Given the description of an element on the screen output the (x, y) to click on. 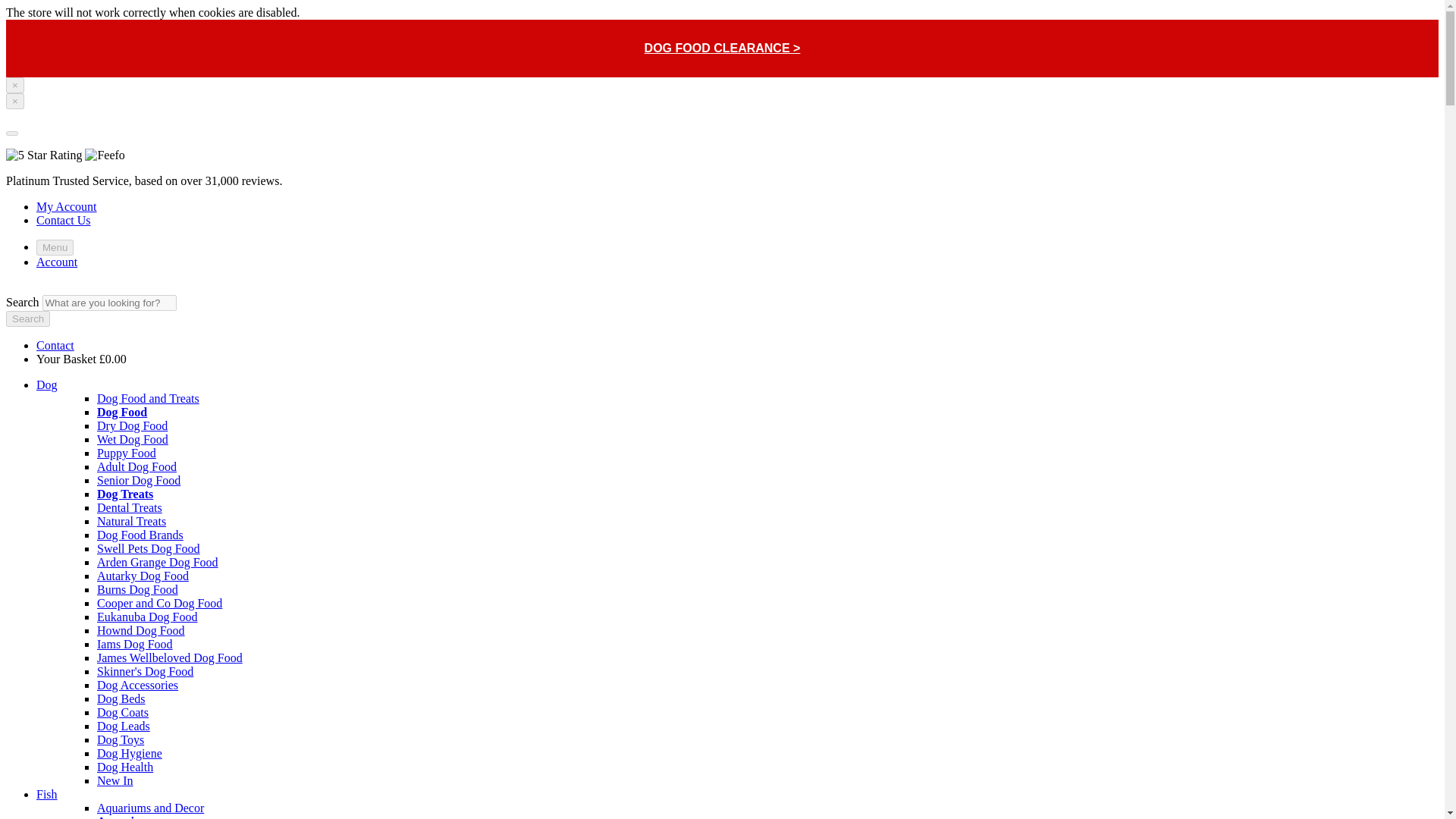
Skinner's Dog Food (145, 671)
Adult Dog Food (136, 466)
Dog Accessories (137, 684)
Dog Toys (120, 739)
Search (27, 318)
Arden Grange Dog Food (157, 562)
Menu (55, 247)
Dog (47, 384)
Hownd Dog Food (140, 630)
Burns Dog Food (137, 589)
My Account (66, 205)
Dog Leads (123, 725)
Autarky Dog Food (143, 575)
Senior Dog Food (138, 480)
Dog Hygiene (129, 753)
